Given the description of an element on the screen output the (x, y) to click on. 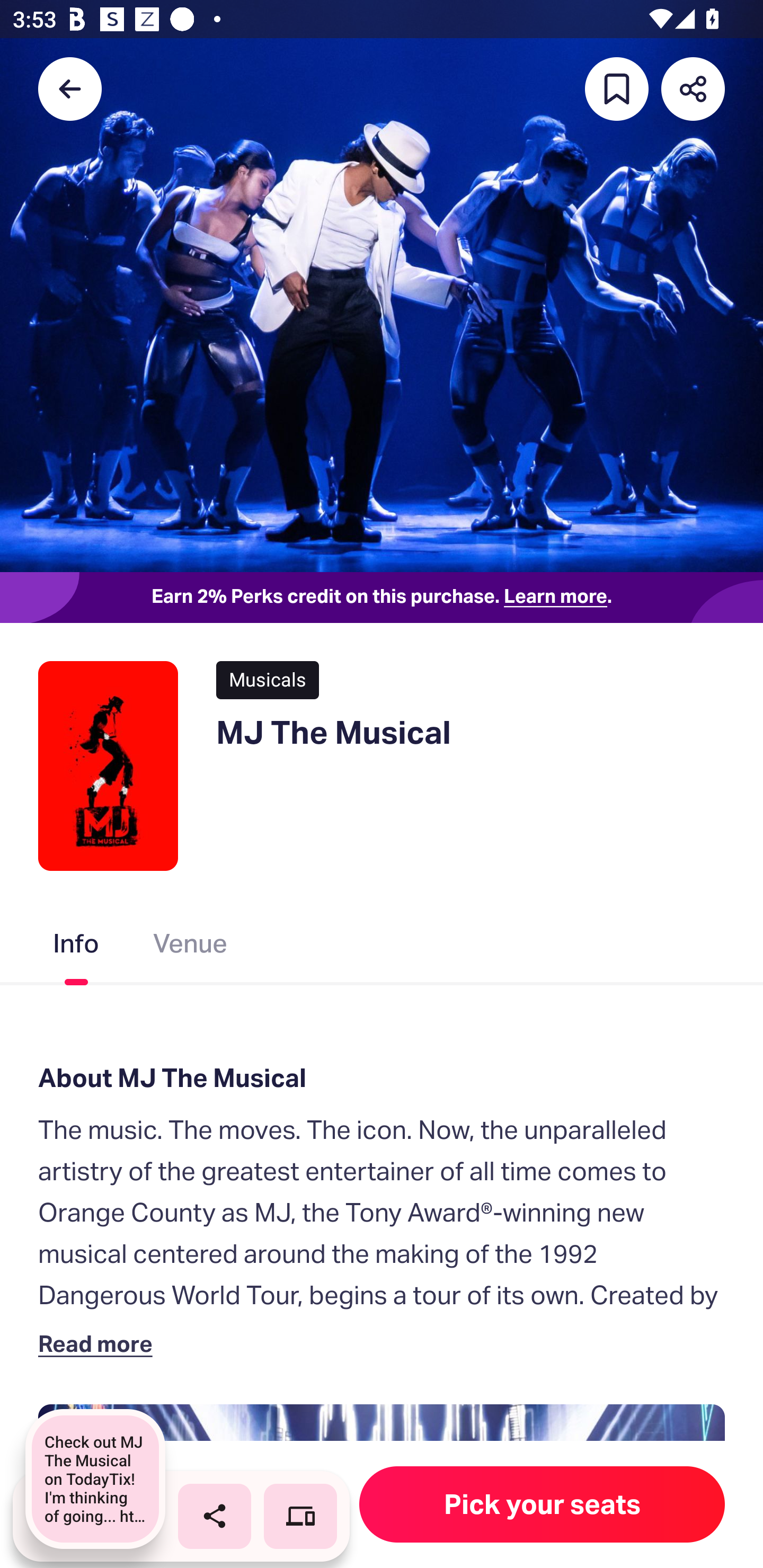
Earn 2% Perks credit on this purchase. Learn more. (381, 597)
Venue (190, 946)
About MJ The Musical (381, 1077)
Read more (99, 1342)
Pick your seats (541, 1504)
